Given the description of an element on the screen output the (x, y) to click on. 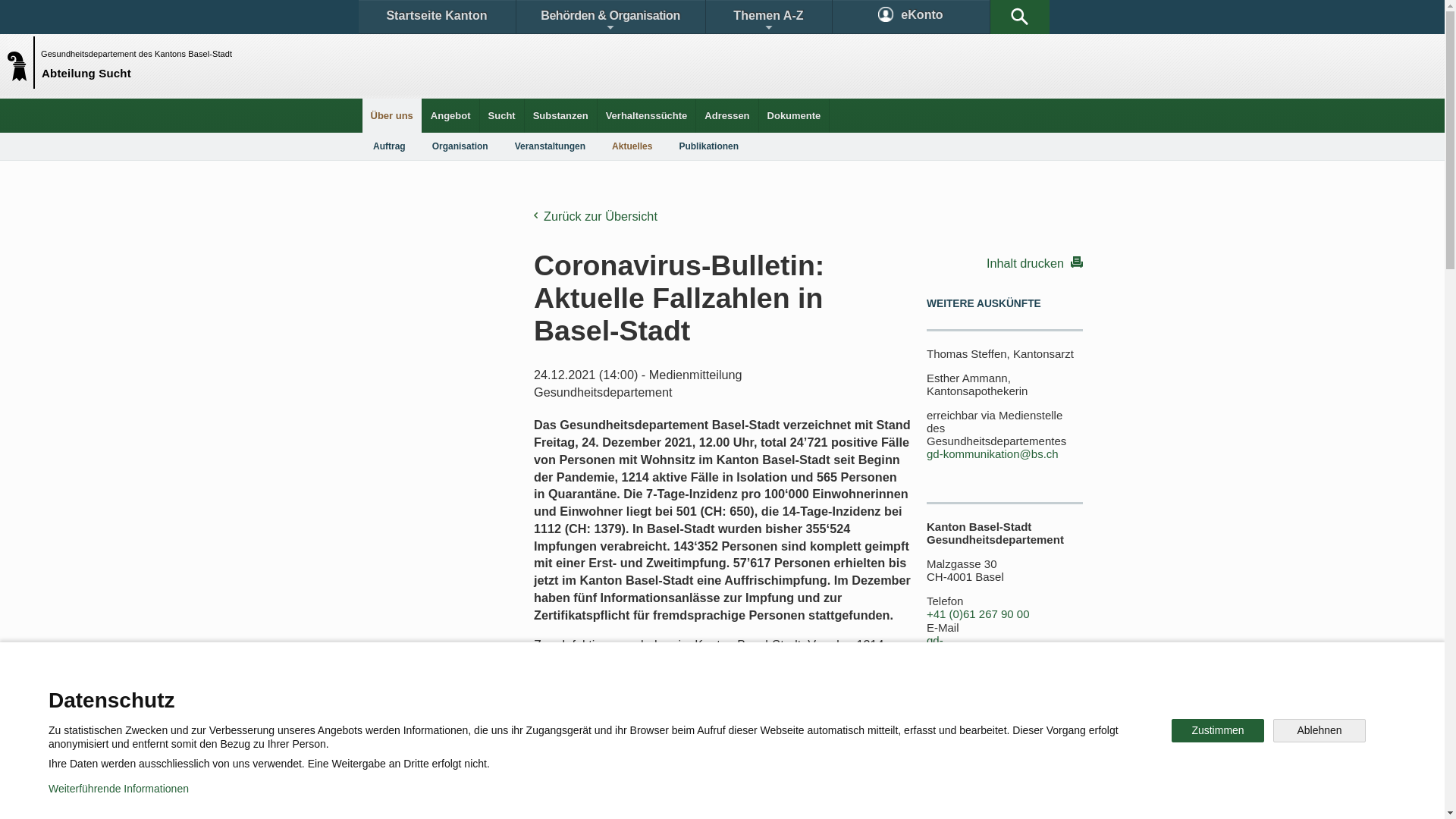
Adressen Element type: text (726, 115)
Substanzen Element type: text (560, 115)
Veranstaltungen Element type: text (549, 145)
Dokumente Element type: text (794, 115)
Startseite Kanton Element type: text (435, 17)
Stadtplan & Karte Element type: text (504, 693)
Bild & Multimedia Element type: text (908, 693)
Zustimmen Element type: text (1217, 730)
Instagram Element type: text (738, 746)
Impressum Element type: text (648, 796)
Statistiken Element type: text (687, 693)
Gesetze Element type: text (597, 693)
Twitter Element type: text (642, 746)
Organisation Element type: text (459, 145)
Themen A-Z Element type: text (768, 17)
eKonto Element type: text (910, 17)
Inhalt drucken Element type: text (1004, 261)
Auftrag Element type: text (389, 145)
Publikationen Element type: text (795, 693)
Ablehnen Element type: text (1319, 730)
Sucht Element type: text (502, 115)
gd-kommunikation@bs.ch Element type: text (983, 646)
Angebot Element type: text (450, 115)
Aktuelles Element type: text (631, 145)
Facebook Element type: text (547, 746)
+41 (0)61 267 90 00 Element type: text (977, 614)
Kontakt Element type: text (406, 693)
Nutzungsregelungen Element type: text (542, 796)
Zur mobilen Ansicht Element type: text (752, 796)
www.gd.bs.ch Element type: text (1007, 678)
Publikationen Element type: text (708, 145)
gd-kommunikation@bs.ch Element type: text (992, 453)
